Given the description of an element on the screen output the (x, y) to click on. 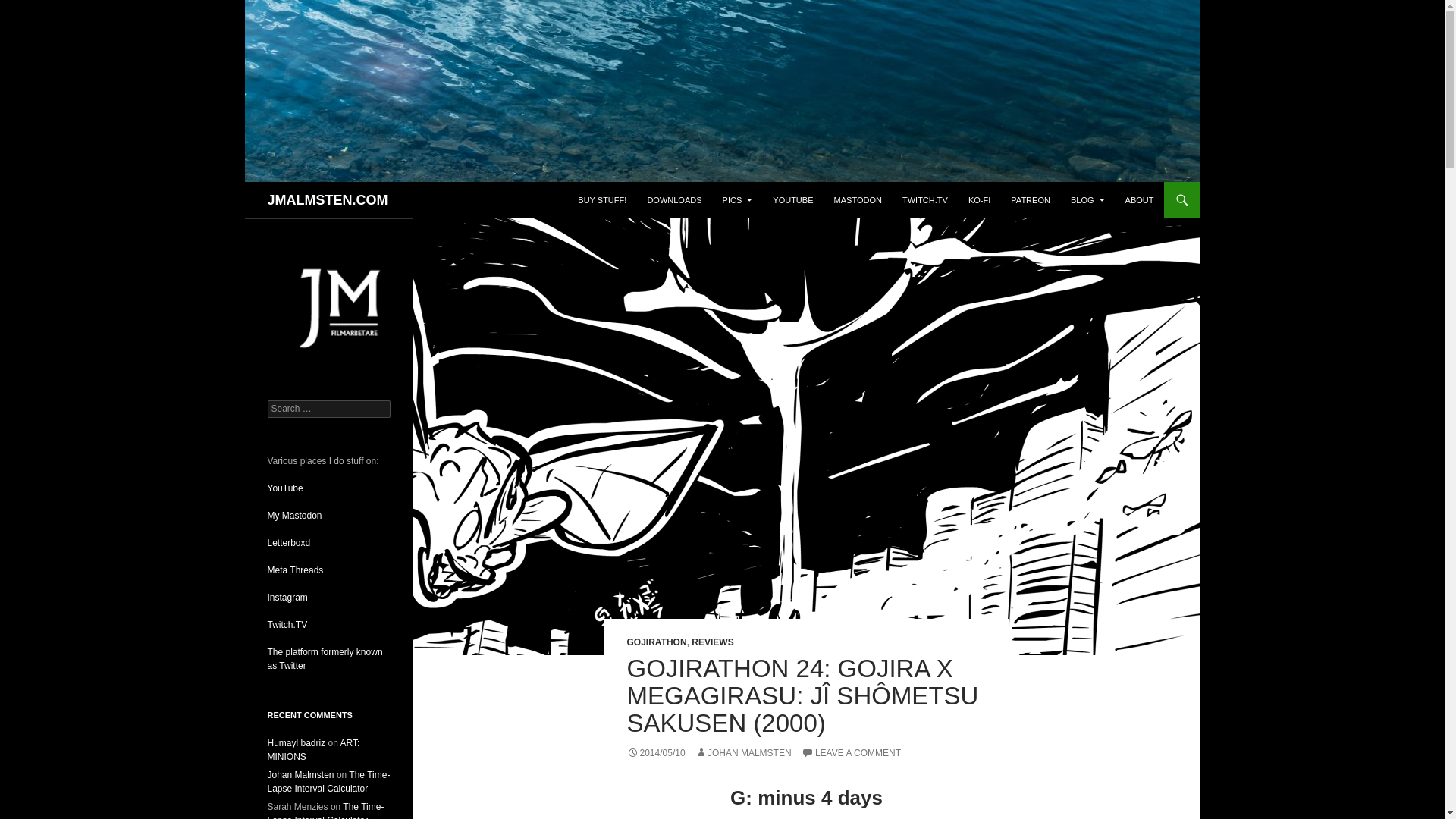
MASTODON (858, 199)
REVIEWS (712, 642)
JOHAN MALMSTEN (743, 752)
DOWNLOADS (673, 199)
ABOUT (1139, 199)
BUY STUFF! (601, 199)
LEAVE A COMMENT (851, 752)
KO-FI (978, 199)
